Given the description of an element on the screen output the (x, y) to click on. 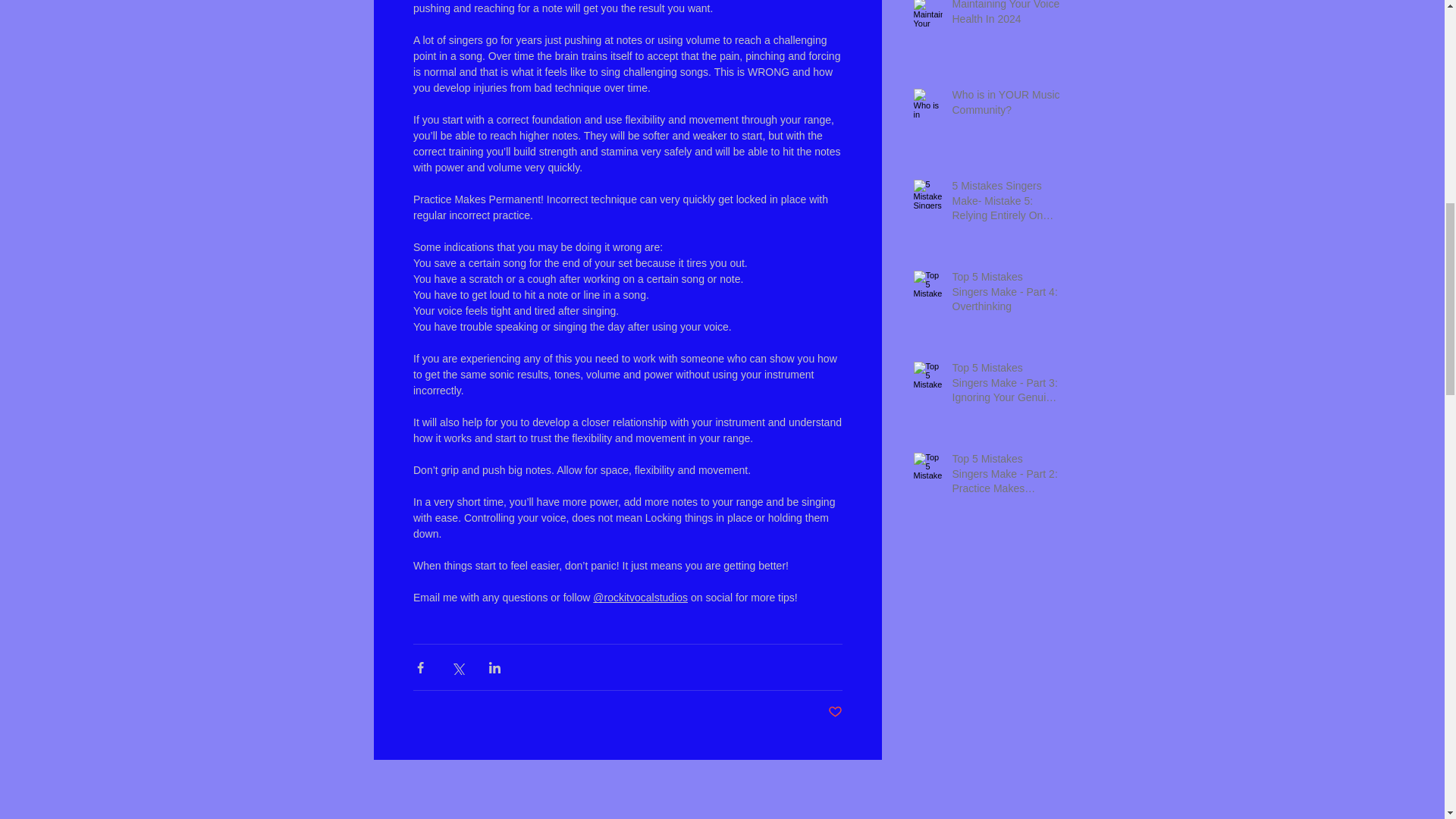
Maintaining Your Voice Health In 2024 (1006, 16)
Post not marked as liked (835, 712)
Top 5 Mistakes Singers Make - Part 4: Overthinking (1006, 295)
Who is in YOUR Music Community? (1006, 105)
